Given the description of an element on the screen output the (x, y) to click on. 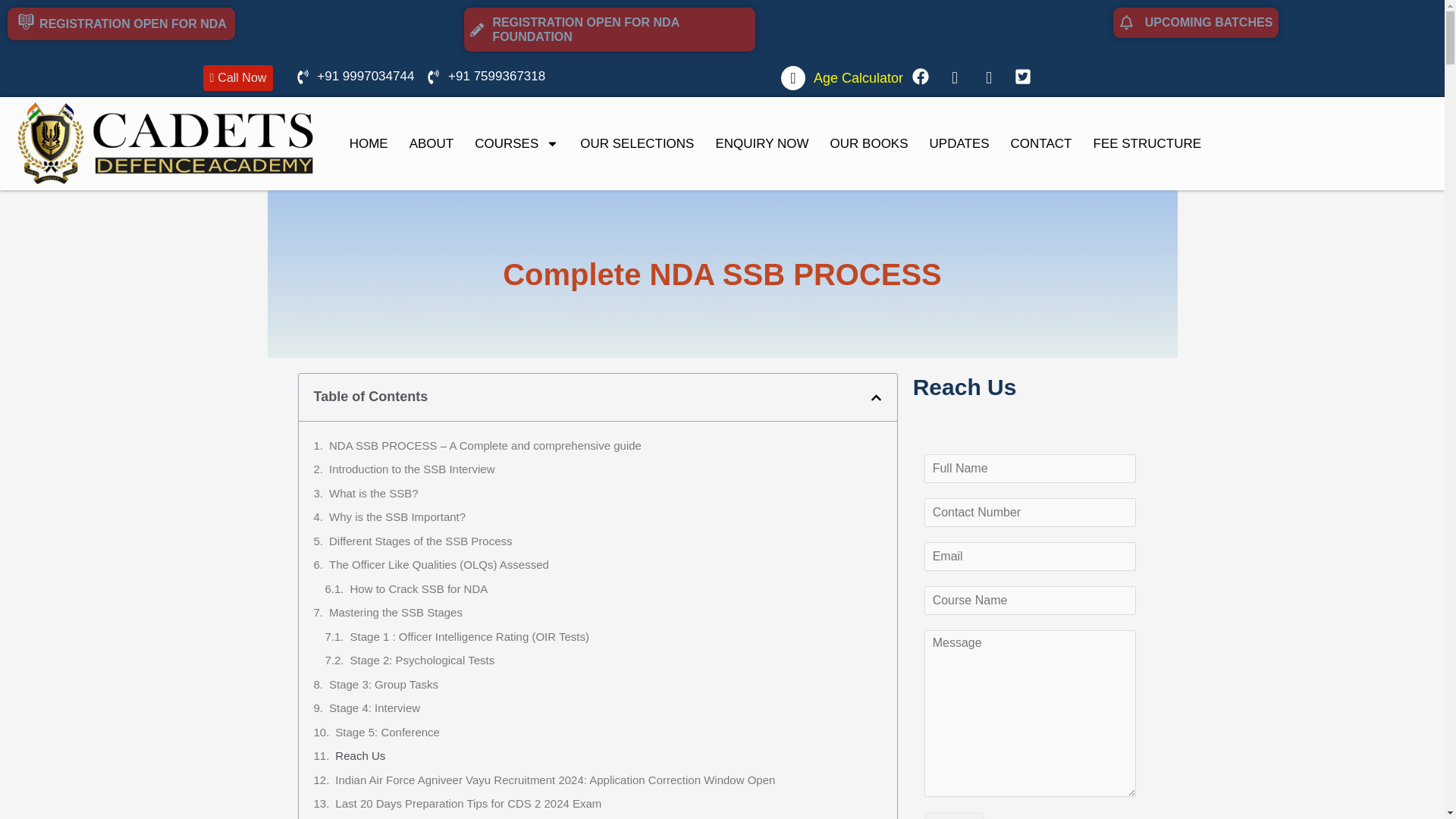
UPCOMING BATCHES (1196, 22)
ENQUIRY NOW (761, 143)
UPDATES (959, 143)
CONTACT (1041, 143)
OUR SELECTIONS (636, 143)
ABOUT (431, 143)
REGISTRATION OPEN FOR NDA (120, 23)
FEE STRUCTURE (1147, 143)
HOME (368, 143)
REGISTRATION OPEN FOR NDA FOUNDATION (609, 29)
